Given the description of an element on the screen output the (x, y) to click on. 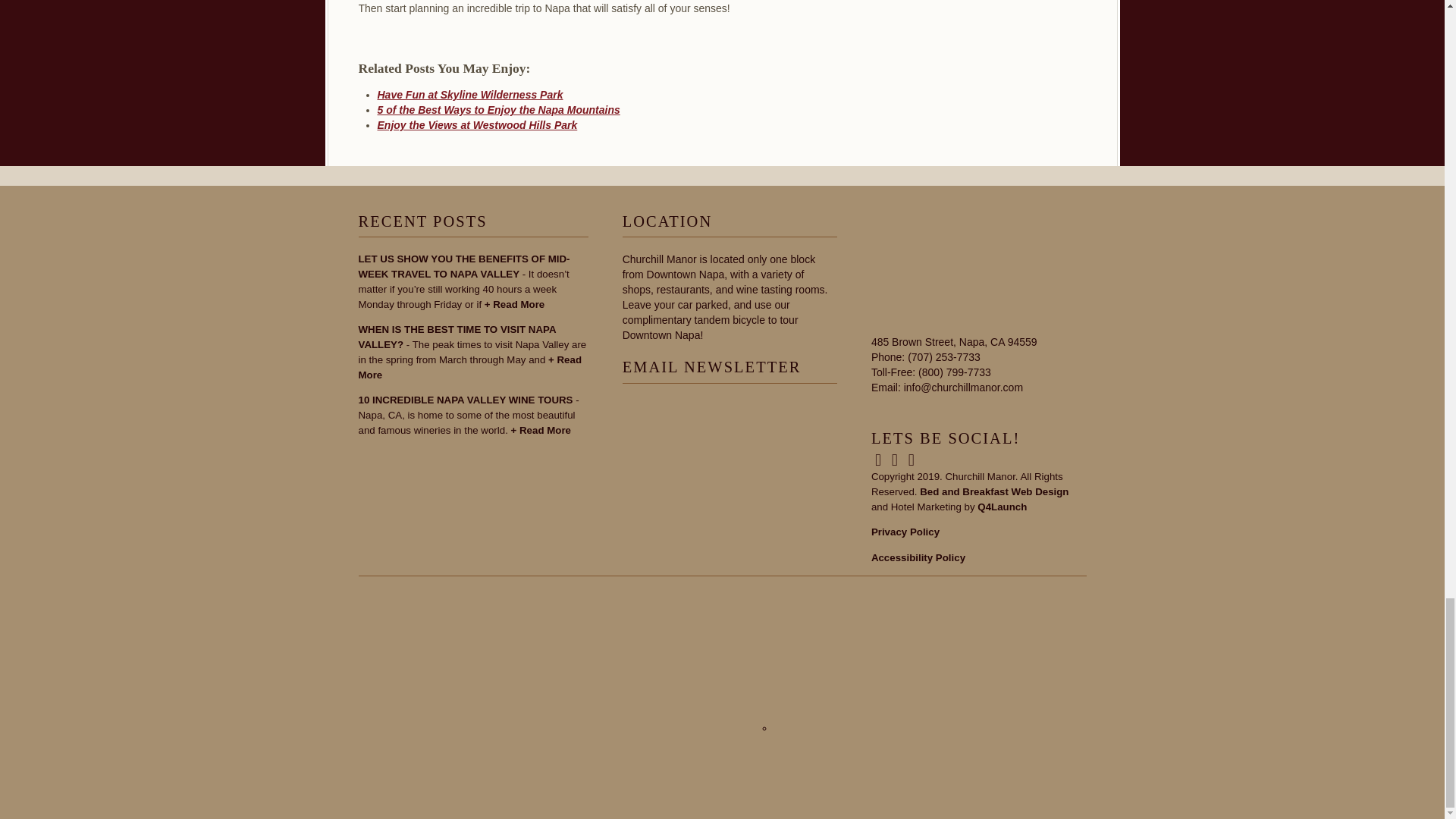
5 of the Best Ways to Enjoy the Napa Mountains (498, 110)
Enjoy the Views at Westwood Hills Park (477, 124)
5 of the Best Ways to Enjoy the Napa Mountains (498, 110)
Enjoy the Views at Westwood Hills Park (477, 124)
Have Fun at Skyline Wilderness Park (470, 94)
Have Fun at Skyline Wilderness Park (470, 94)
